Given the description of an element on the screen output the (x, y) to click on. 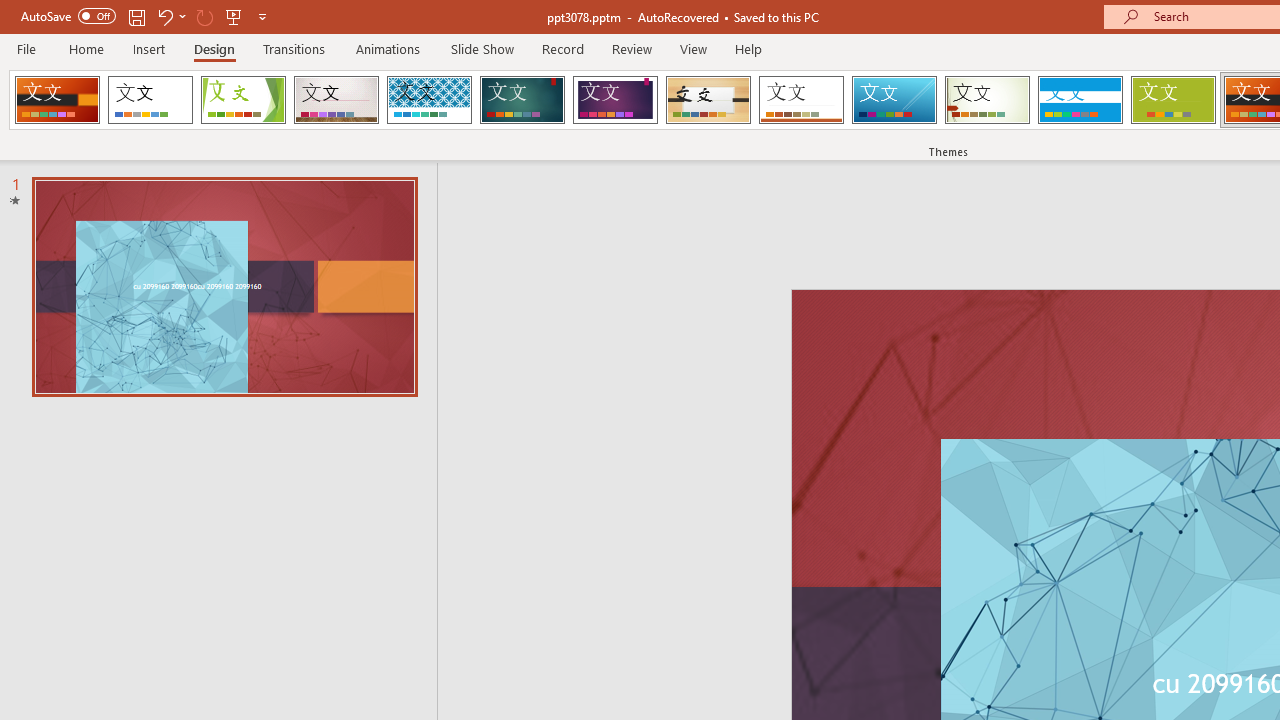
Ion (522, 100)
Slice (893, 100)
Organic (708, 100)
Retrospect (801, 100)
